Given the description of an element on the screen output the (x, y) to click on. 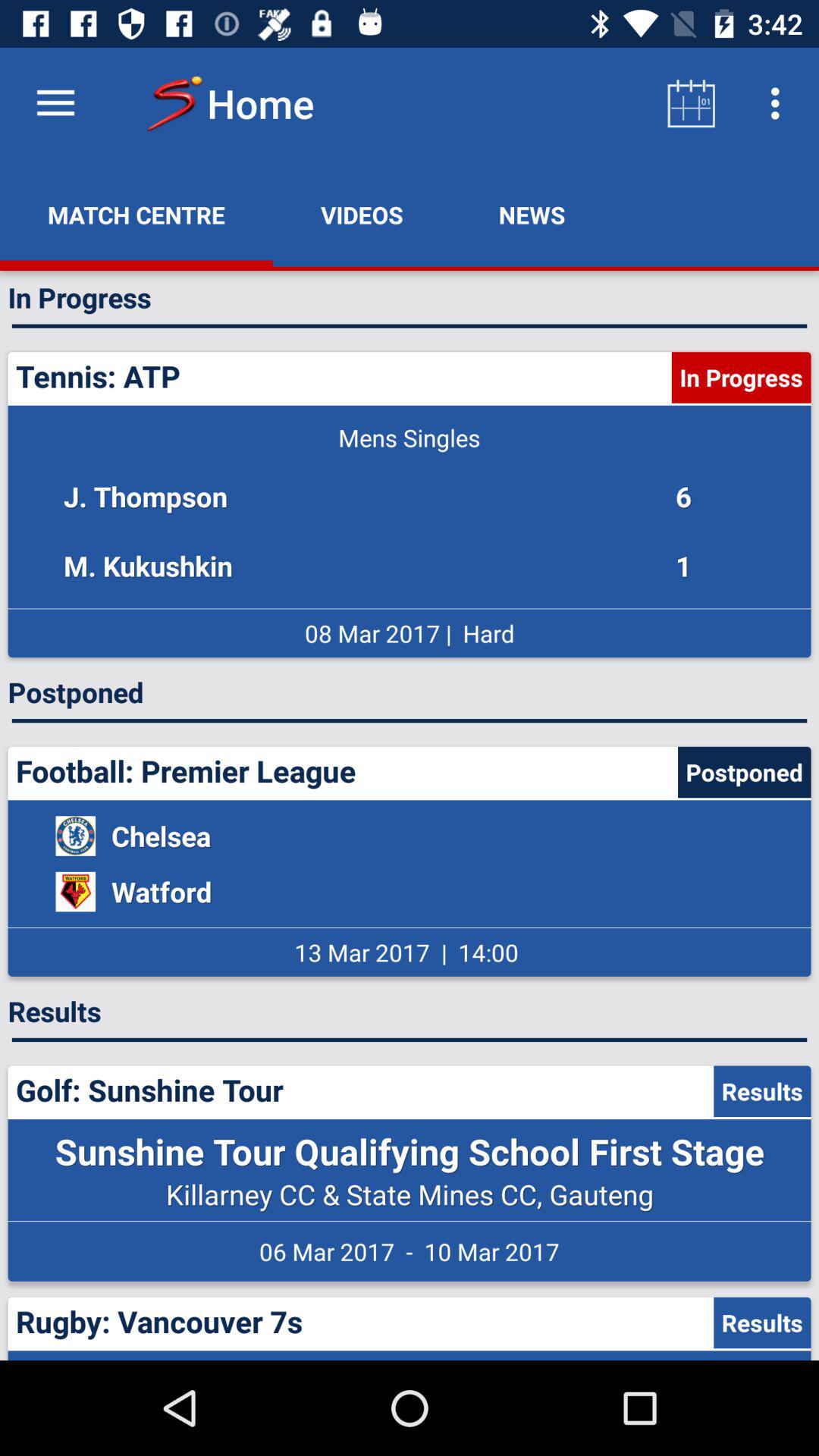
select the first block (409, 505)
